Given the description of an element on the screen output the (x, y) to click on. 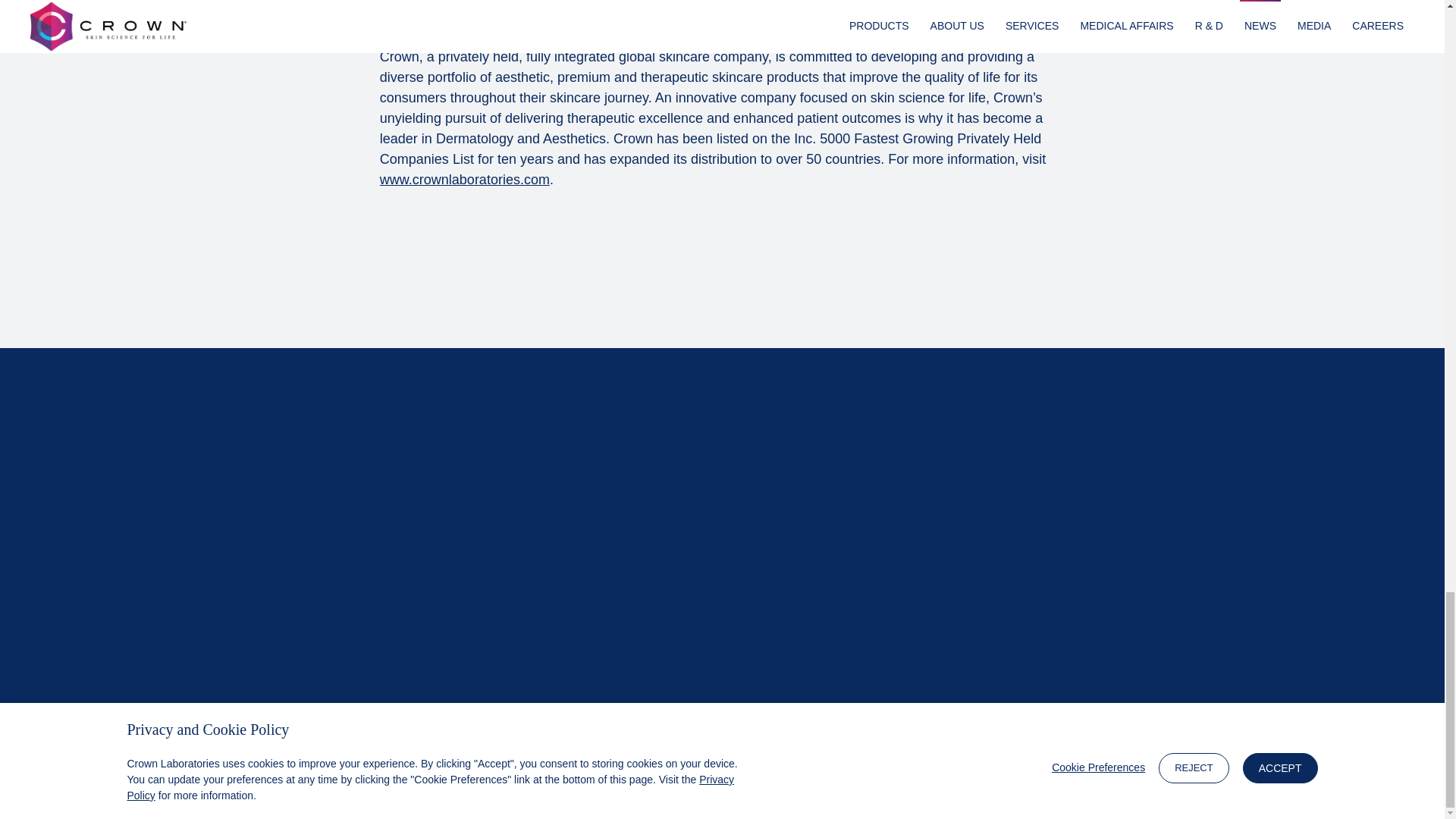
www.crownlaboratories.com (465, 178)
